Given the description of an element on the screen output the (x, y) to click on. 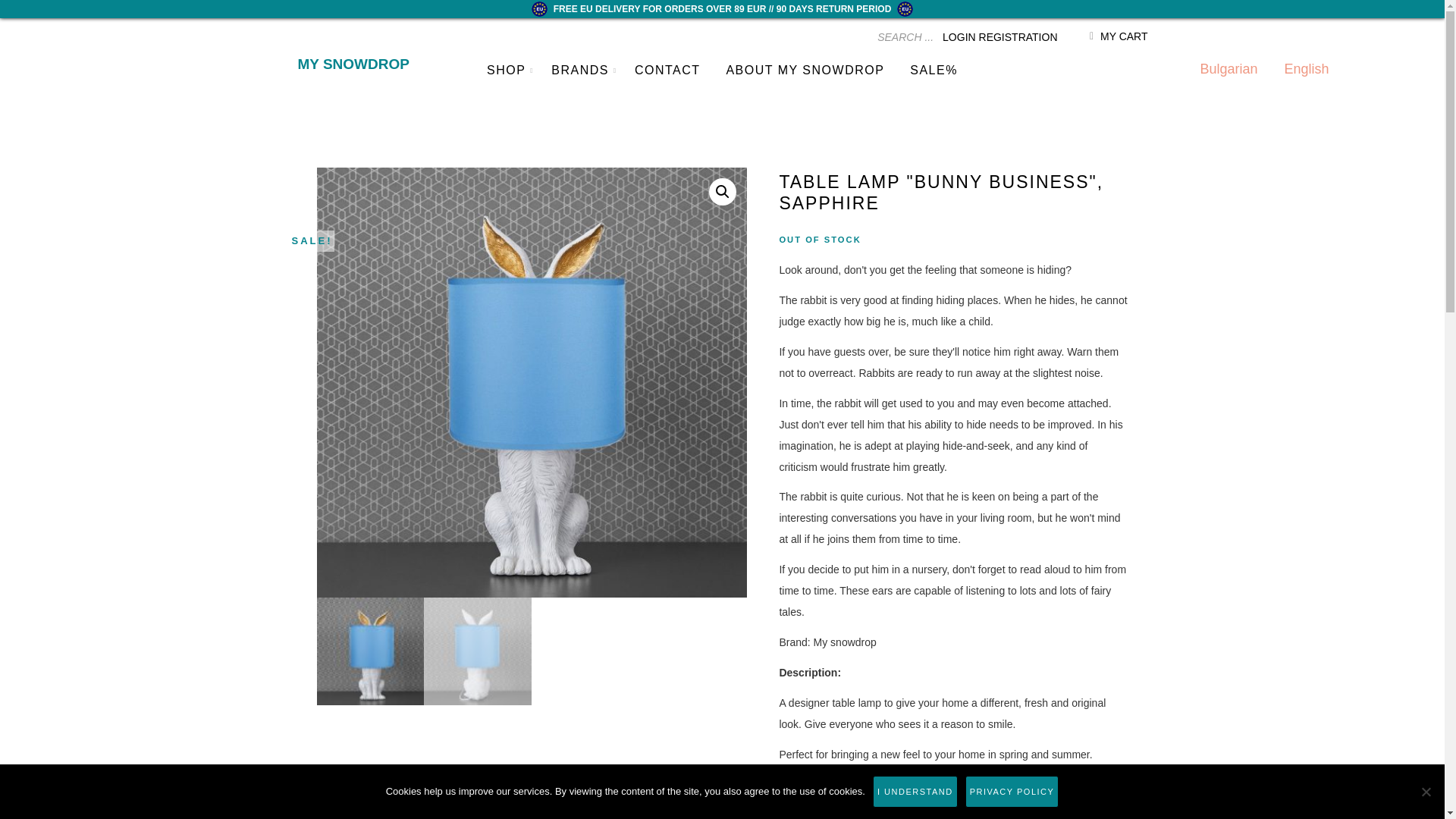
Look at your cart (1118, 36)
No (1425, 791)
Bulgarian (1228, 68)
English (1306, 68)
Login Registration (999, 37)
